Given the description of an element on the screen output the (x, y) to click on. 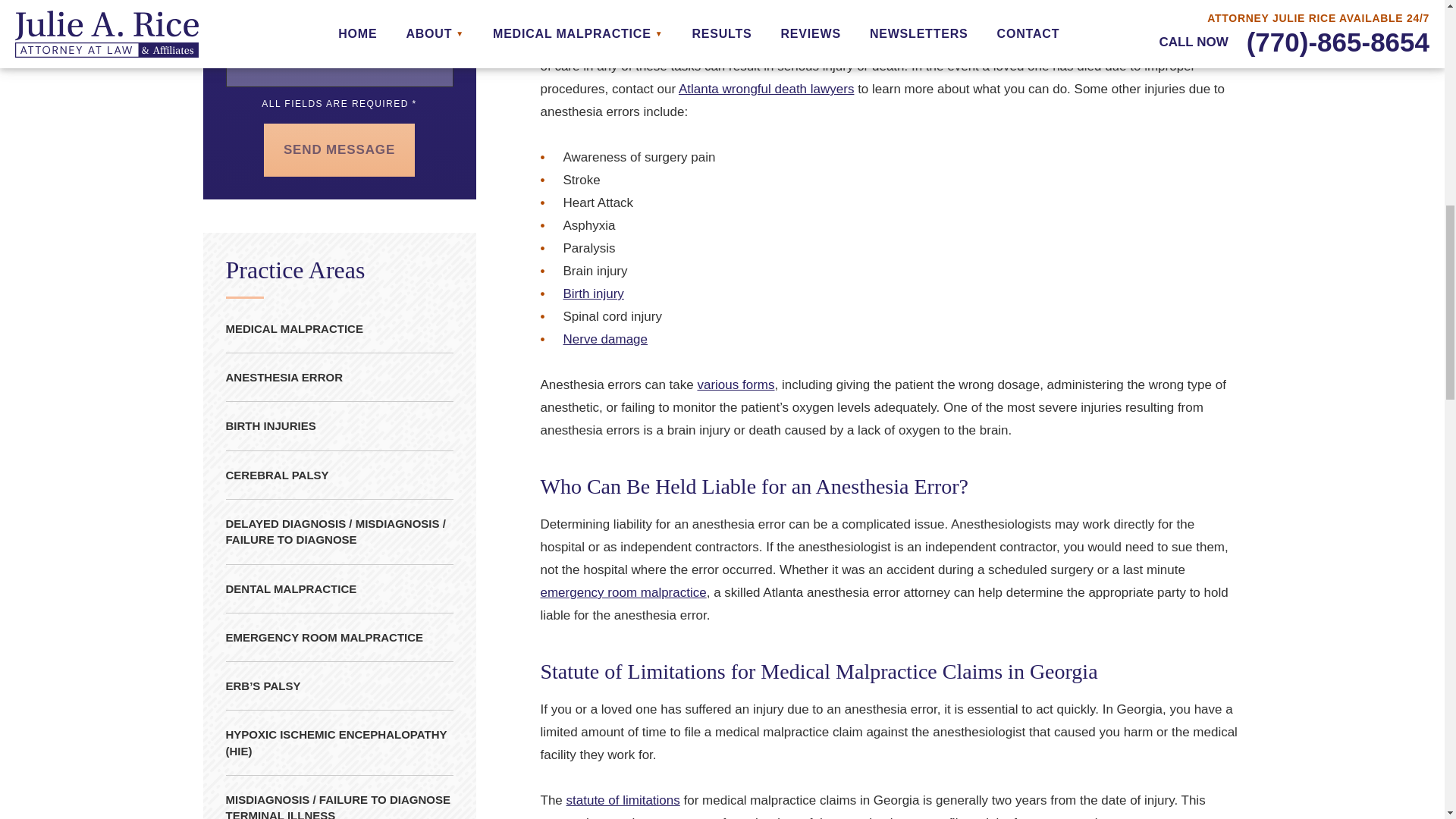
BIRTH INJURIES (338, 426)
Send Message (338, 149)
Send Message (338, 149)
Nerve damage (604, 339)
CEREBRAL PALSY (338, 475)
statute of limitations (622, 800)
various forms (735, 384)
emergency room malpractice (623, 592)
Birth injury (592, 293)
MEDICAL MALPRACTICE (338, 328)
ANESTHESIA ERROR (338, 377)
Atlanta wrongful death lawyers (766, 88)
